Given the description of an element on the screen output the (x, y) to click on. 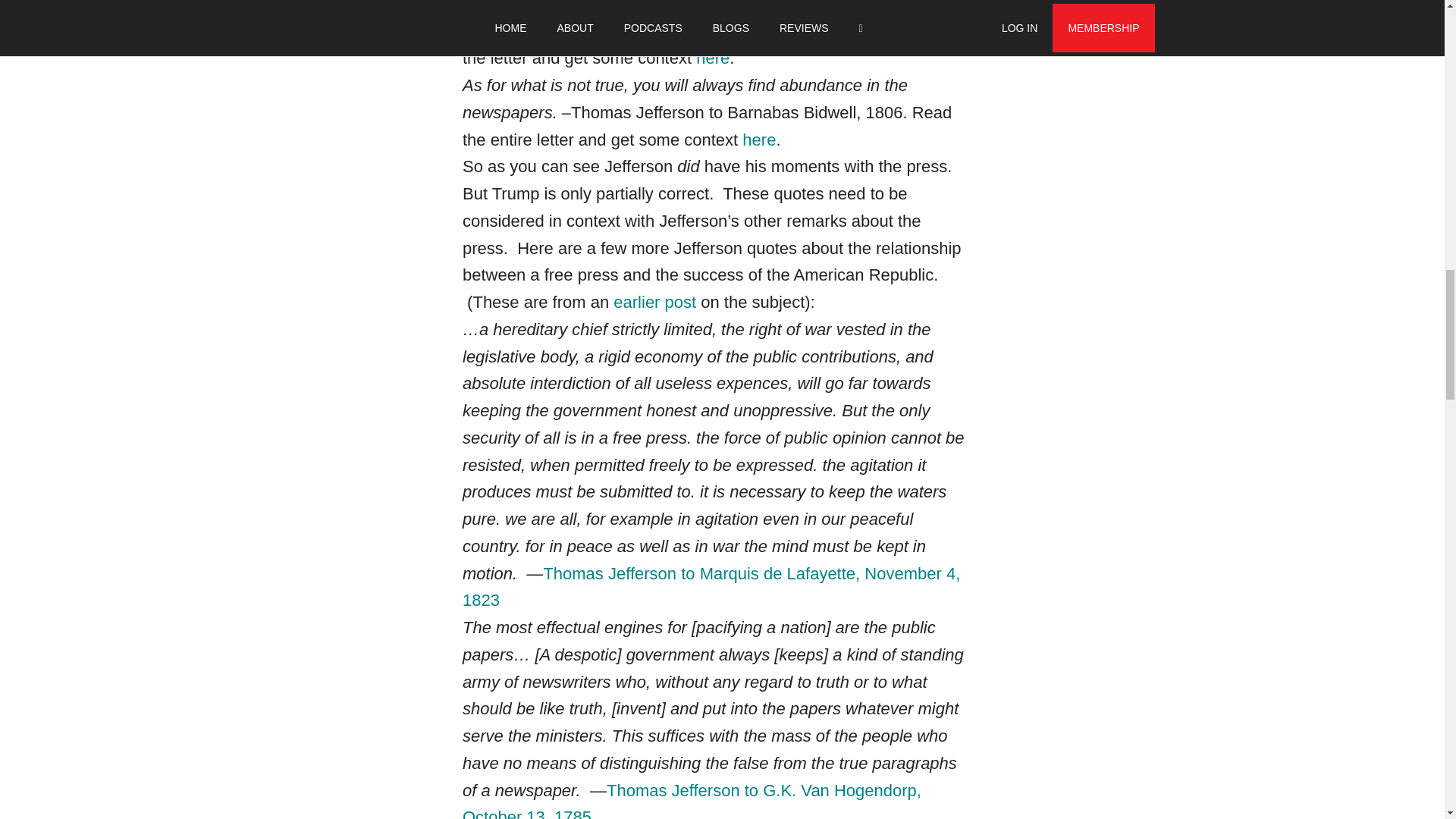
here (712, 57)
earlier post (653, 302)
Thomas Jefferson to Marquis de Lafayette, November 4, 1823 (711, 587)
Thomas Jefferson to G.K. Van Hogendorp, October 13, 1785 (692, 800)
here (759, 139)
